Given the description of an element on the screen output the (x, y) to click on. 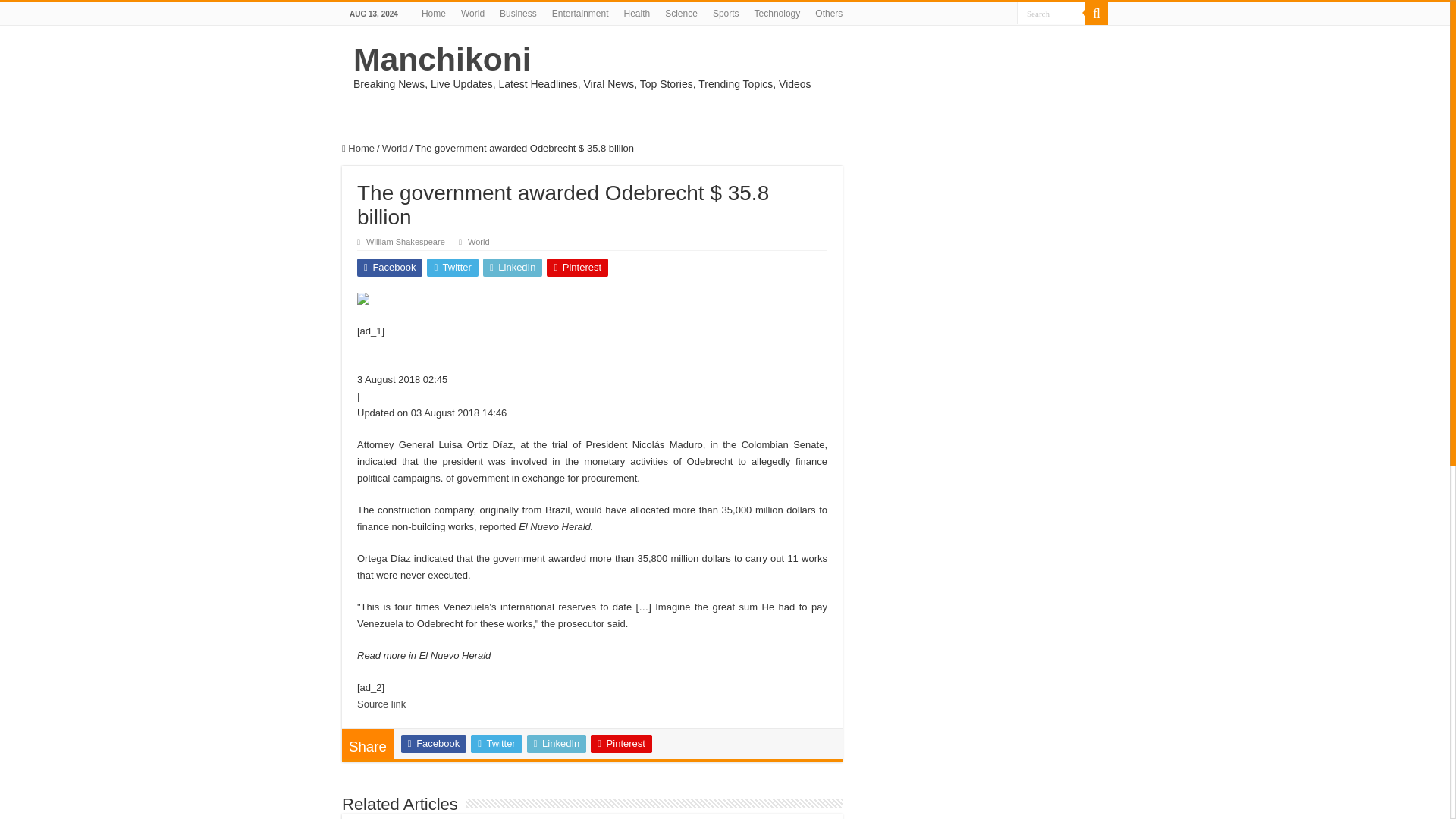
Technology (777, 13)
Facebook (433, 743)
Sports (725, 13)
Twitter (451, 267)
Science (681, 13)
William Shakespeare (405, 241)
Source link (381, 704)
Search (1050, 13)
Business (518, 13)
Search (1050, 13)
